Given the description of an element on the screen output the (x, y) to click on. 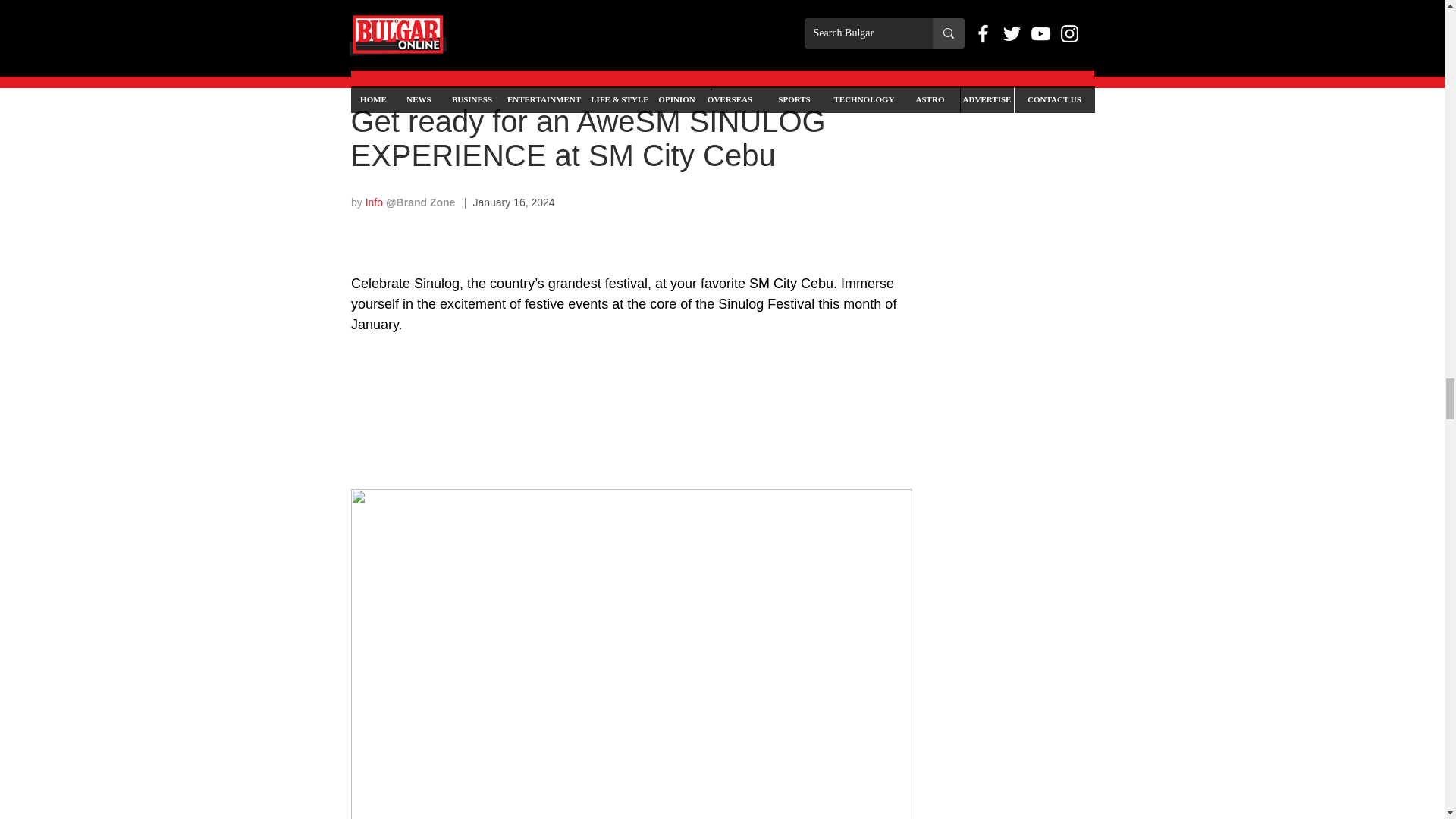
BULGAR (372, 74)
Jan 16 (423, 74)
Get ready for an AweSM SINULOG EXPERIENCE at SM City Cebu (587, 137)
